Given the description of an element on the screen output the (x, y) to click on. 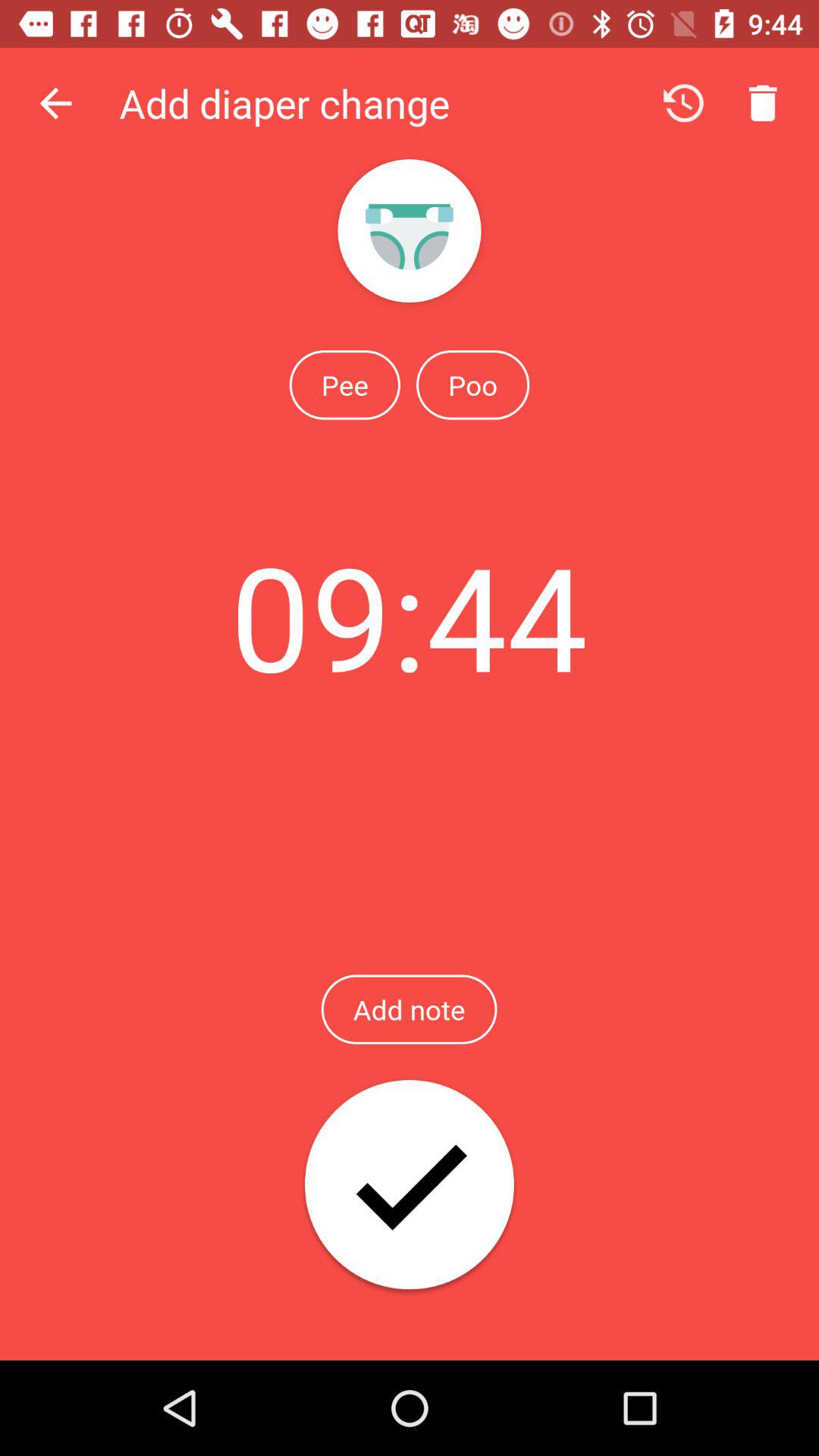
choose the icon above the 09:44 (472, 384)
